Given the description of an element on the screen output the (x, y) to click on. 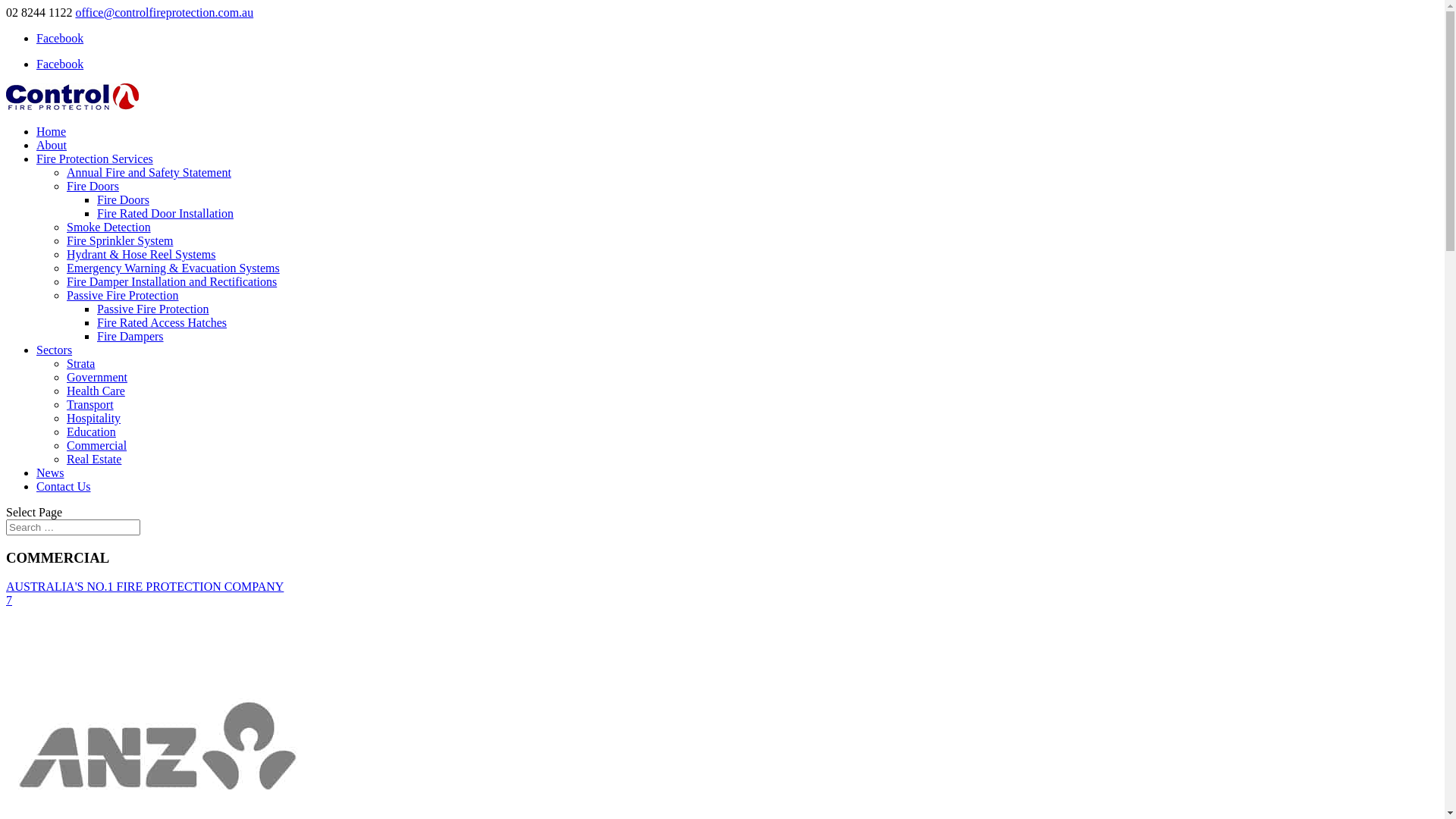
Contact Us Element type: text (63, 486)
About Element type: text (51, 144)
Passive Fire Protection Element type: text (122, 294)
7 Element type: text (9, 599)
Facebook Element type: text (59, 37)
Fire Doors Element type: text (123, 199)
Facebook Element type: text (59, 63)
Passive Fire Protection Element type: text (153, 308)
Fire Doors Element type: text (92, 185)
Fire Dampers Element type: text (130, 335)
Fire Damper Installation and Rectifications Element type: text (171, 281)
Health Care Element type: text (95, 390)
office@controlfireprotection.com.au Element type: text (164, 12)
Home Element type: text (50, 131)
Sectors Element type: text (54, 349)
Emergency Warning & Evacuation Systems Element type: text (172, 267)
Fire Rated Access Hatches Element type: text (161, 322)
Hospitality Element type: text (93, 417)
Commercial Element type: text (96, 445)
News Element type: text (49, 472)
Fire Rated Door Installation Element type: text (165, 213)
Real Estate Element type: text (93, 458)
Annual Fire and Safety Statement Element type: text (148, 172)
Fire Sprinkler System Element type: text (119, 240)
Transport Element type: text (89, 404)
Education Element type: text (91, 431)
Strata Element type: text (80, 363)
Smoke Detection Element type: text (108, 226)
AUSTRALIA'S NO.1 FIRE PROTECTION COMPANY Element type: text (144, 586)
Government Element type: text (96, 376)
Search for: Element type: hover (73, 527)
Hydrant & Hose Reel Systems Element type: text (140, 253)
Fire Protection Services Element type: text (94, 158)
